Given the description of an element on the screen output the (x, y) to click on. 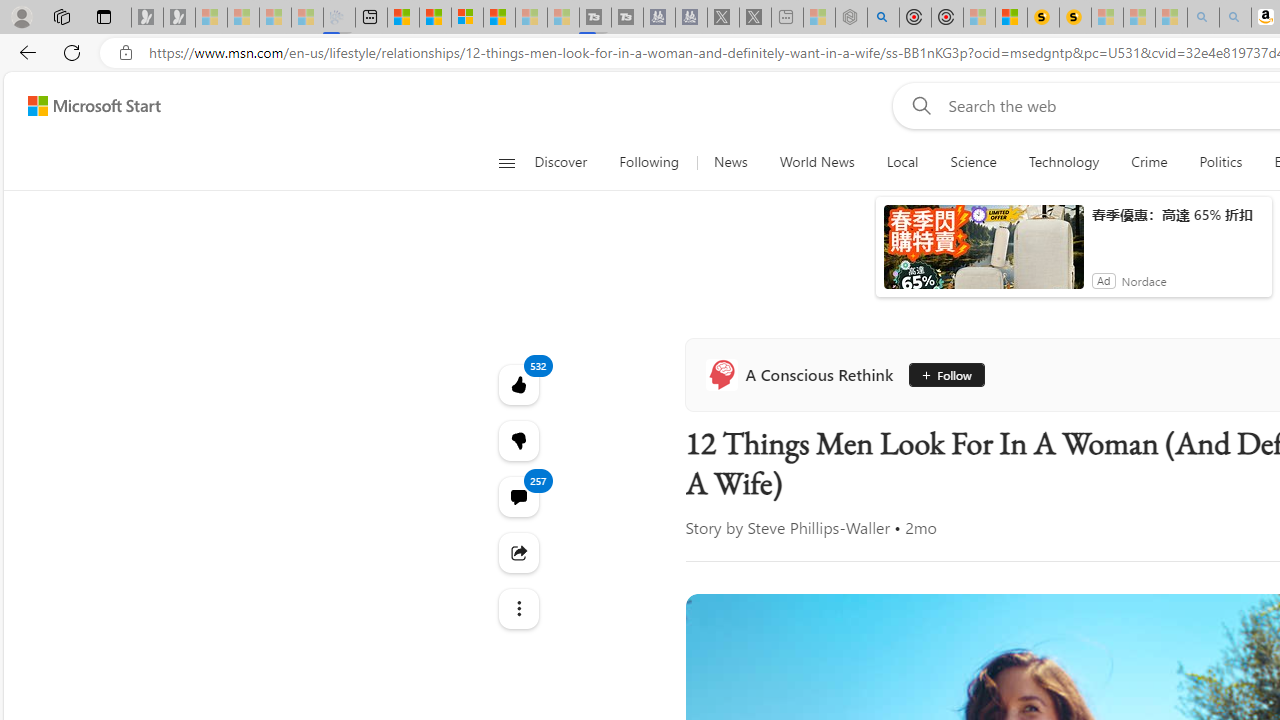
World News (817, 162)
Overview (466, 17)
Science (973, 162)
Newsletter Sign Up - Sleeping (178, 17)
Technology (1064, 162)
Local (902, 162)
View comments 257 Comment (517, 496)
